Given the description of an element on the screen output the (x, y) to click on. 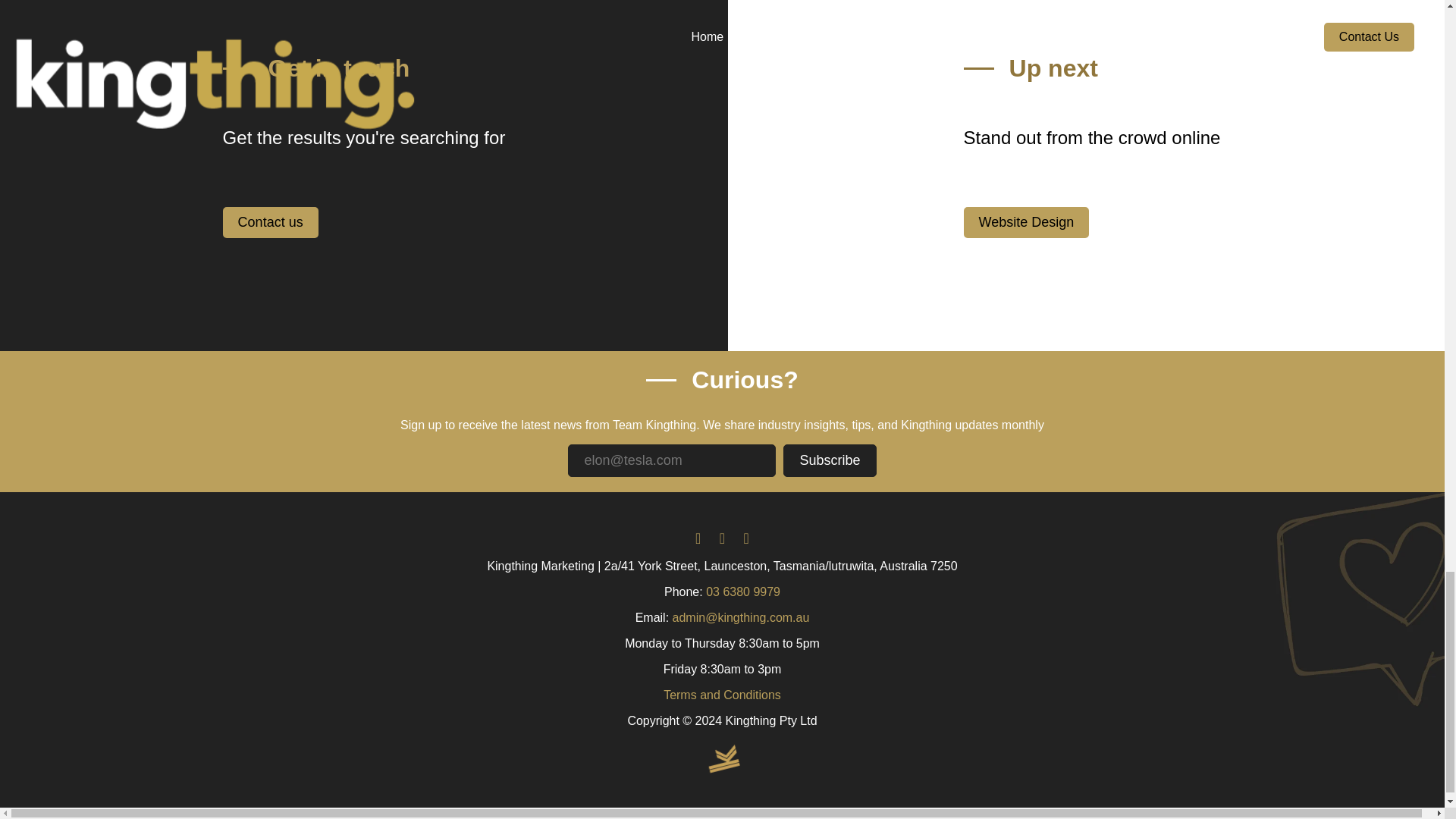
Subscribe (829, 460)
